Given the description of an element on the screen output the (x, y) to click on. 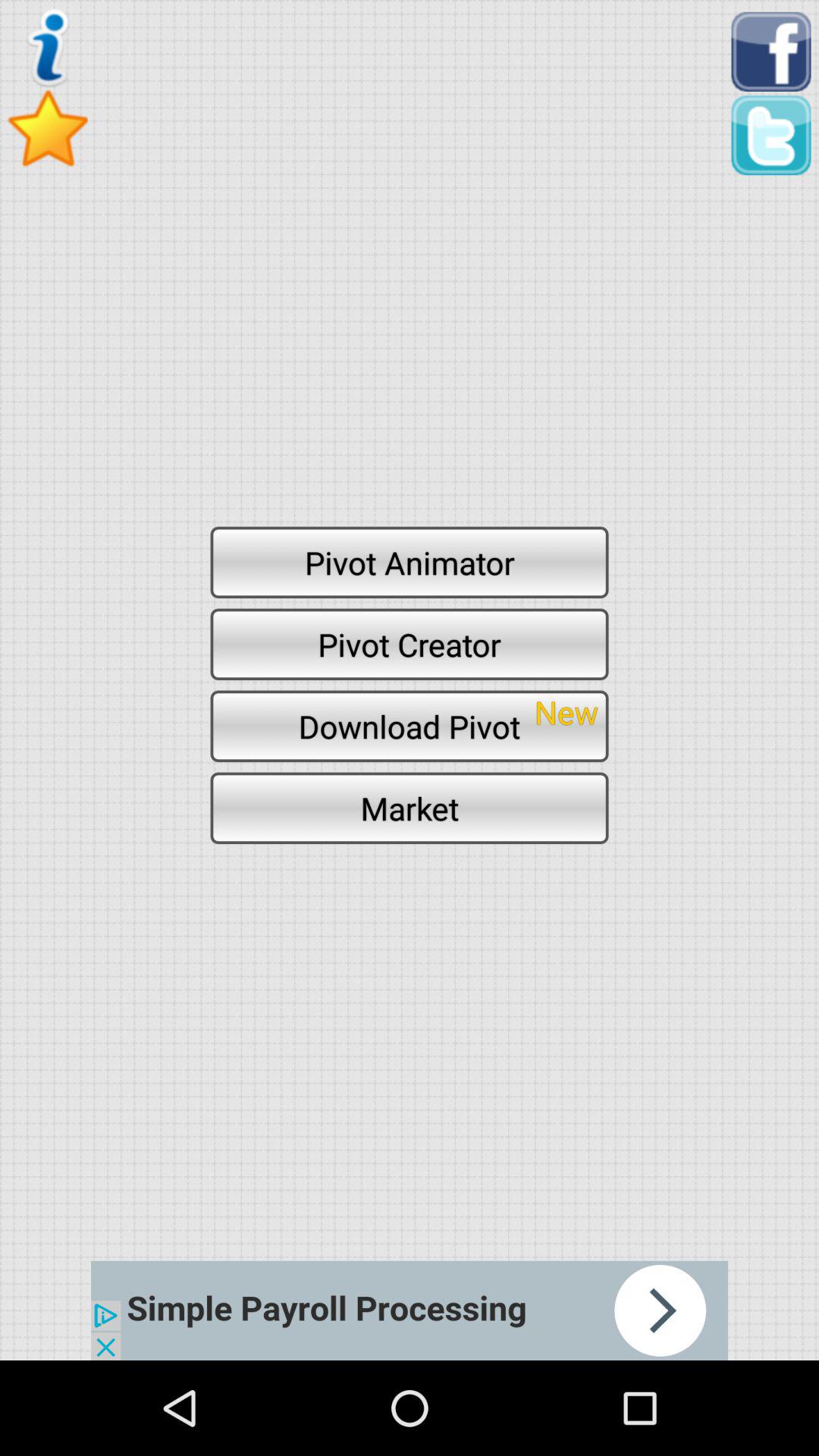
press download pivot (409, 726)
